Given the description of an element on the screen output the (x, y) to click on. 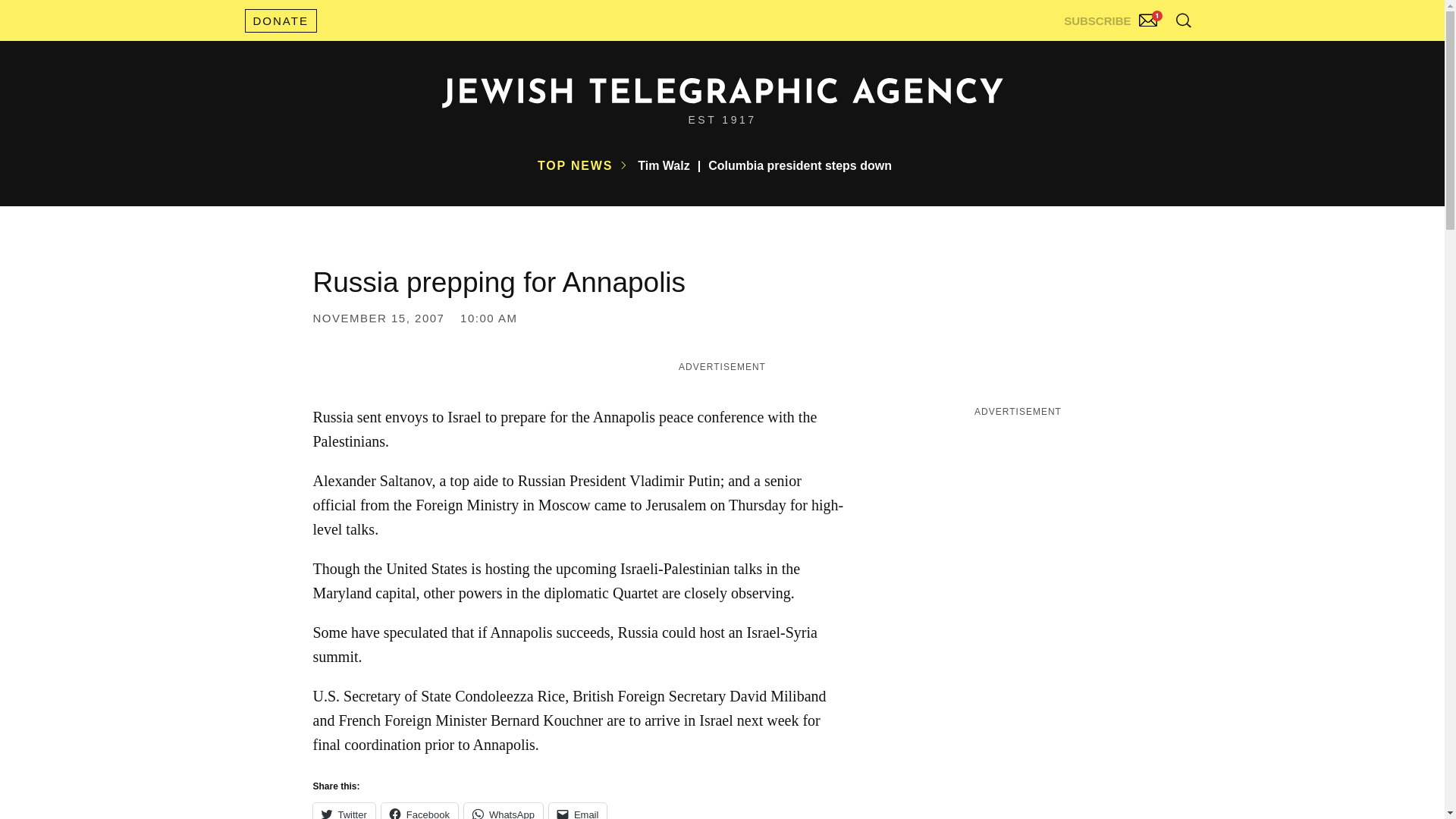
DONATE (279, 20)
Click to share on Facebook (419, 811)
Search (1144, 53)
Click to share on Twitter (343, 811)
SEARCH TOGGLESEARCH TOGGLE (1182, 20)
Click to share on WhatsApp (503, 811)
SUBSCRIBE (1112, 17)
Click to email a link to a friend (577, 811)
